Given the description of an element on the screen output the (x, y) to click on. 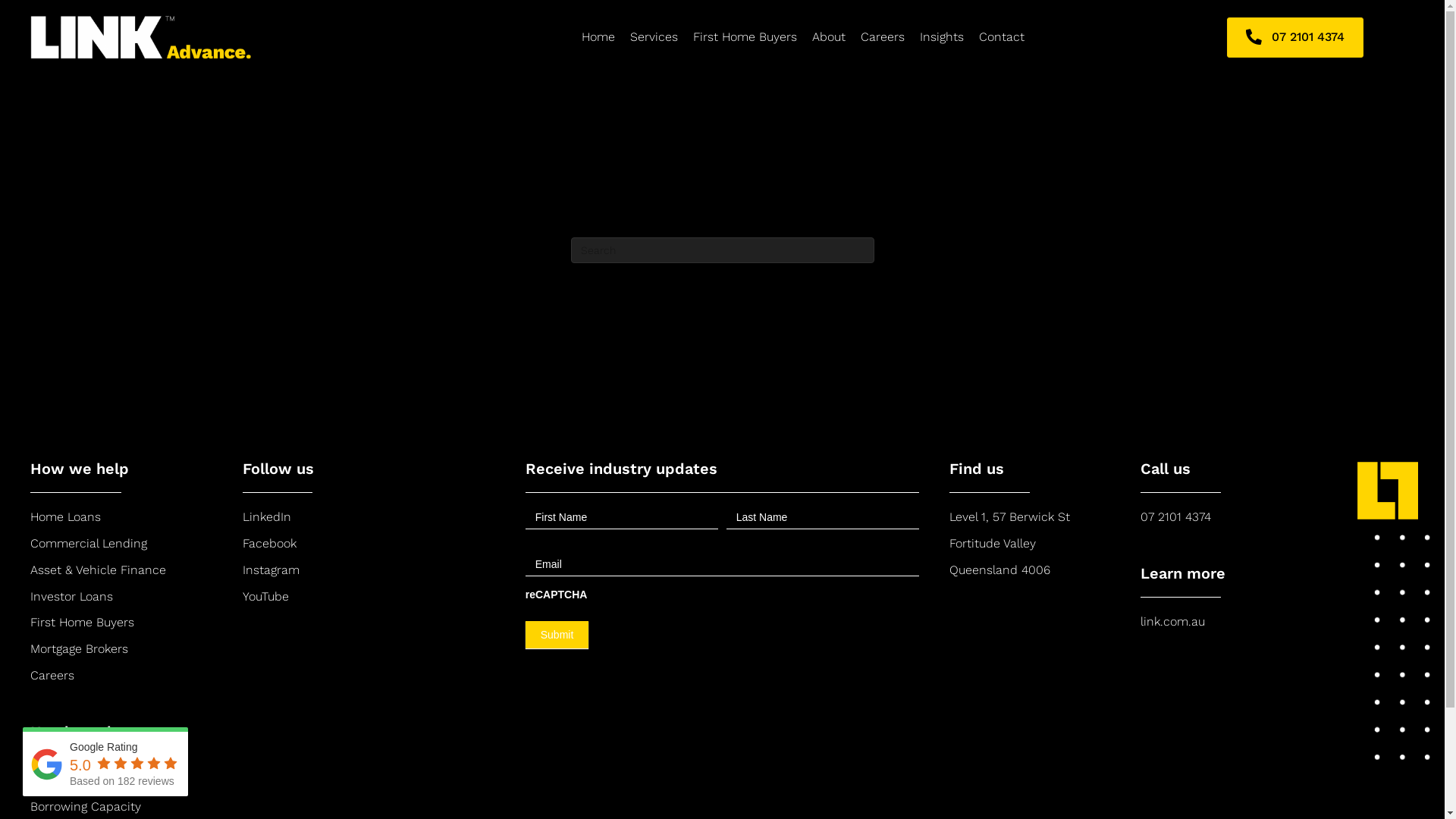
Borrowing Capacity Element type: text (85, 806)
Careers Element type: text (52, 675)
Type and press Enter to search. Element type: hover (721, 250)
LinkedIn Element type: text (266, 516)
First Home Buyers Element type: text (744, 37)
Link Logo_Link Advance Reversed - Fixed Element type: hover (162, 37)
Loan Health Check Element type: text (84, 779)
Commercial Lending Element type: text (88, 543)
Instagram Element type: text (270, 569)
Level 1, 57 Berwick St Element type: text (1009, 516)
Fortitude Valley Element type: text (992, 543)
Queensland 4006 Element type: text (999, 569)
link.com.au Element type: text (1172, 621)
Submit Element type: text (557, 634)
Favicon-05 (2) Element type: hover (1387, 490)
YouTube Element type: text (265, 596)
Home Loans Element type: text (65, 516)
Insights Element type: text (941, 37)
Asset & Vehicle Finance Element type: text (98, 569)
Facebook Element type: text (269, 543)
07 2101 4374 Element type: text (1175, 516)
Mortgage Brokers Element type: text (79, 648)
Contact Element type: text (1001, 37)
Home Element type: text (598, 37)
About Element type: text (828, 37)
07 2101 4374 Element type: text (1294, 37)
Careers Element type: text (882, 37)
First Home Buyers Element type: text (82, 622)
Investor Loans Element type: text (71, 596)
Services Element type: text (653, 37)
